Given the description of an element on the screen output the (x, y) to click on. 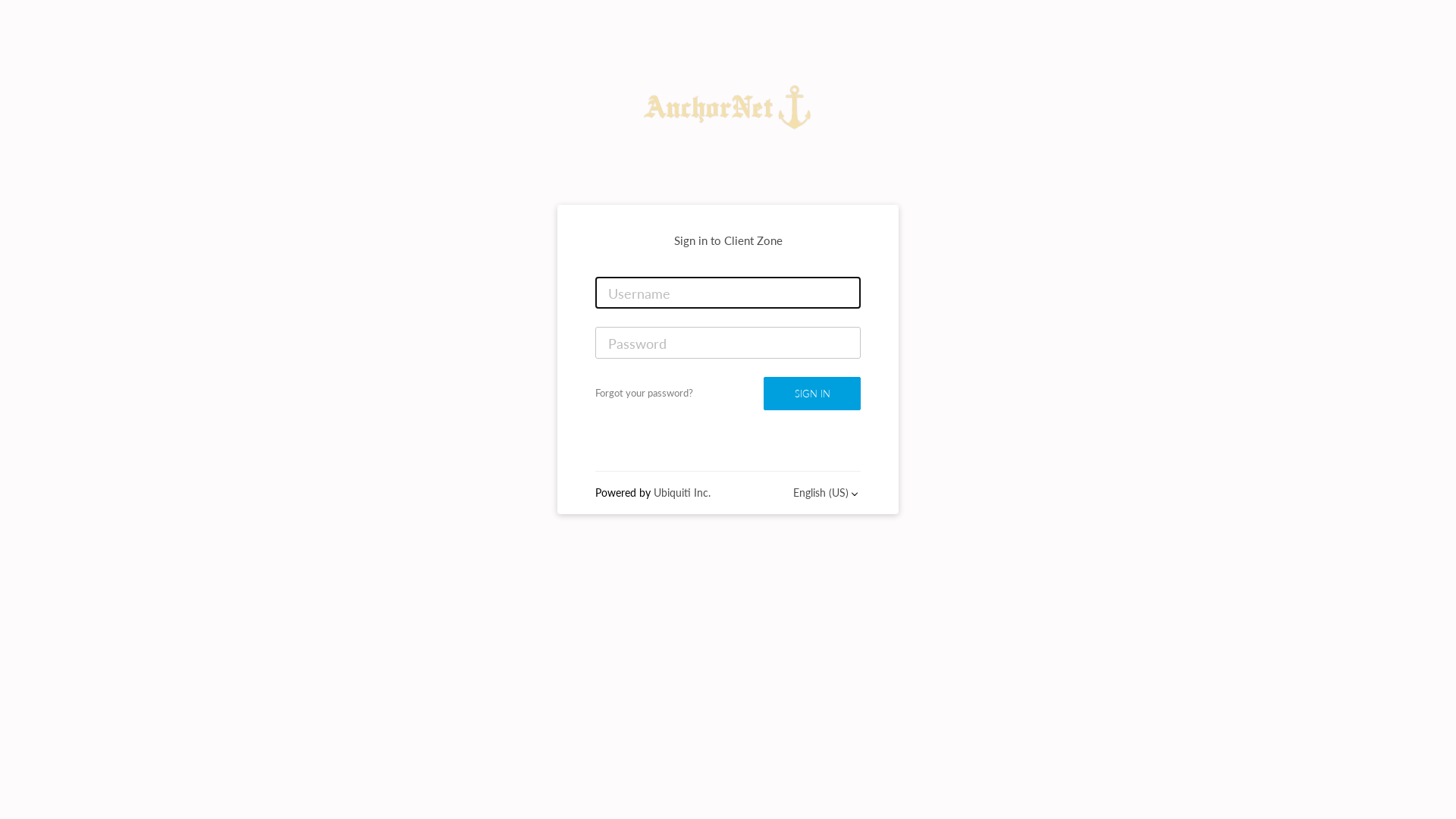
Ubiquiti Inc. Element type: text (681, 492)
SIGN IN Element type: text (811, 393)
Forgot your password? Element type: text (644, 392)
